Given the description of an element on the screen output the (x, y) to click on. 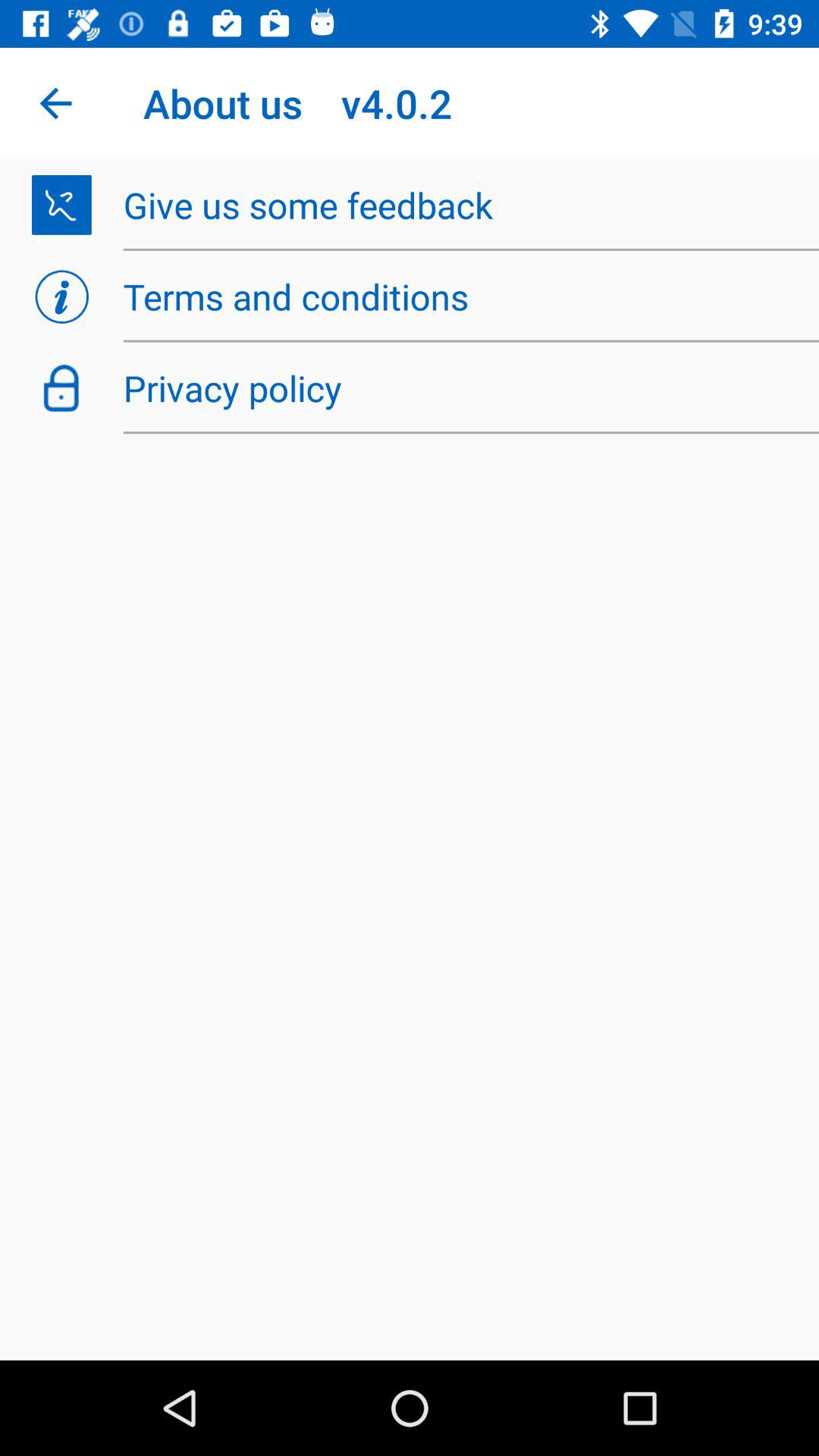
jump to privacy policy item (463, 388)
